Given the description of an element on the screen output the (x, y) to click on. 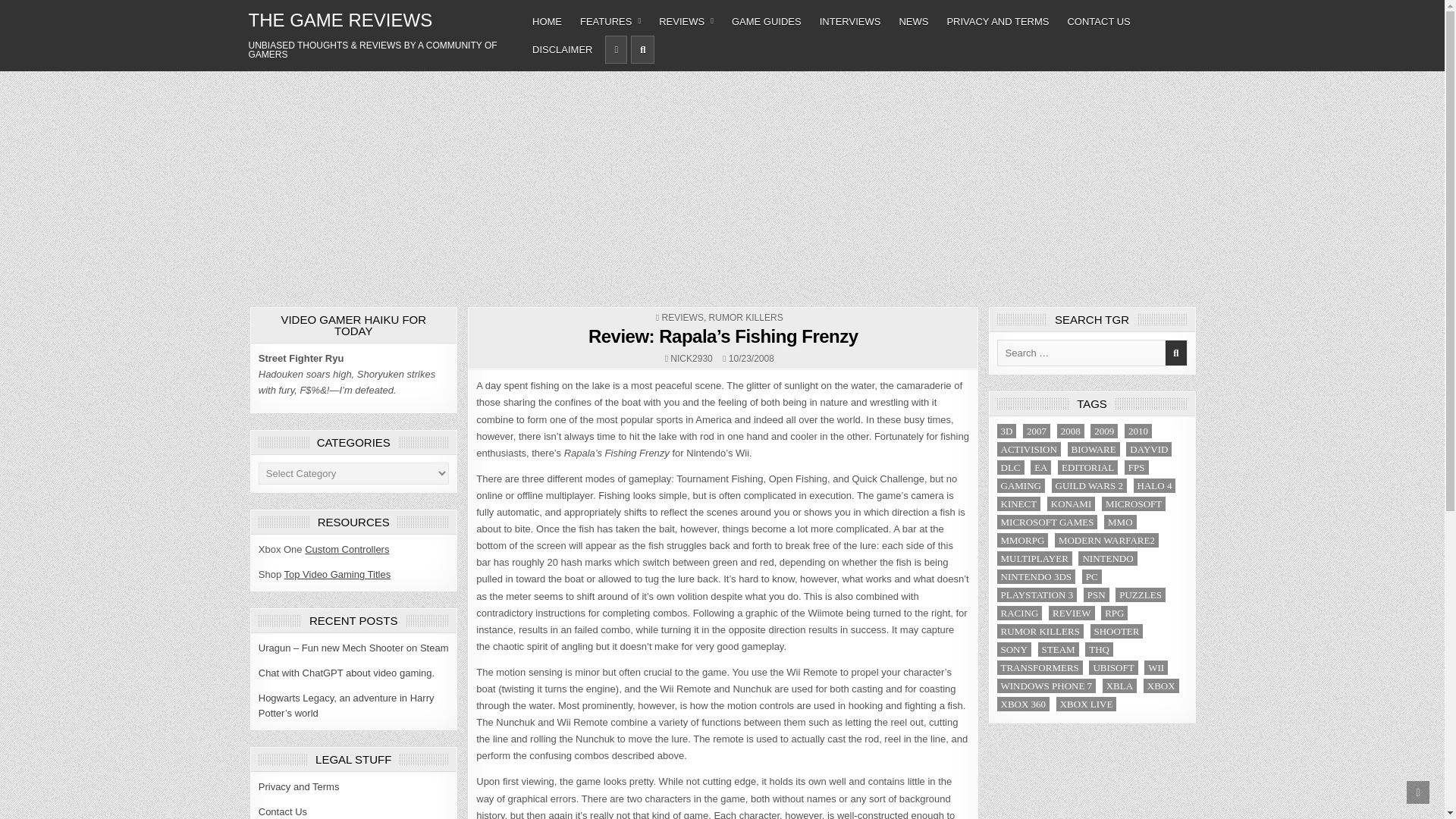
Privacy and Terms (299, 786)
HOME (546, 21)
NEWS (913, 21)
Chat with ChatGPT about video gaming. (346, 672)
CONTACT US (1098, 21)
PRIVACY AND TERMS (997, 21)
RUMOR KILLERS (746, 317)
REVIEWS (682, 317)
INTERVIEWS (849, 21)
Custom Controllers (346, 549)
Scroll to Top (1417, 792)
FEATURES (609, 21)
Scroll to Top (1417, 792)
THE GAME REVIEWS (340, 19)
